Given the description of an element on the screen output the (x, y) to click on. 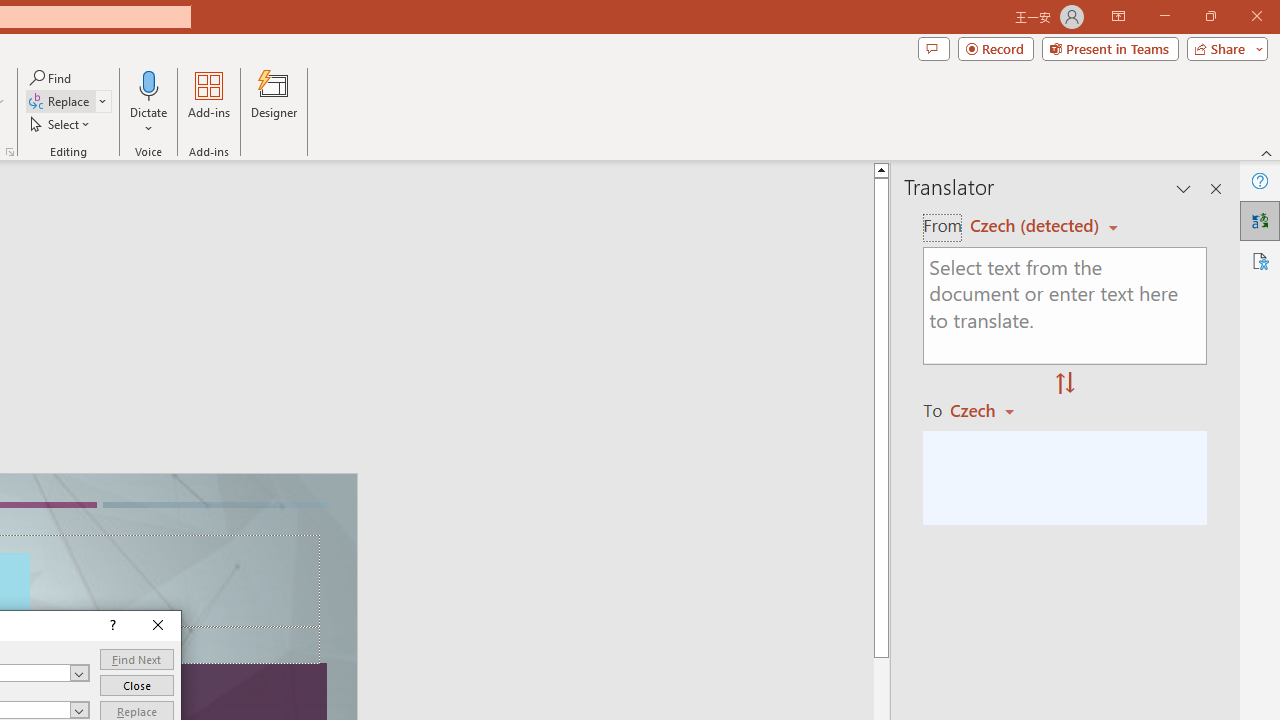
Swap "from" and "to" languages. (1065, 383)
Czech (detected) (1037, 225)
Context help (111, 625)
